Given the description of an element on the screen output the (x, y) to click on. 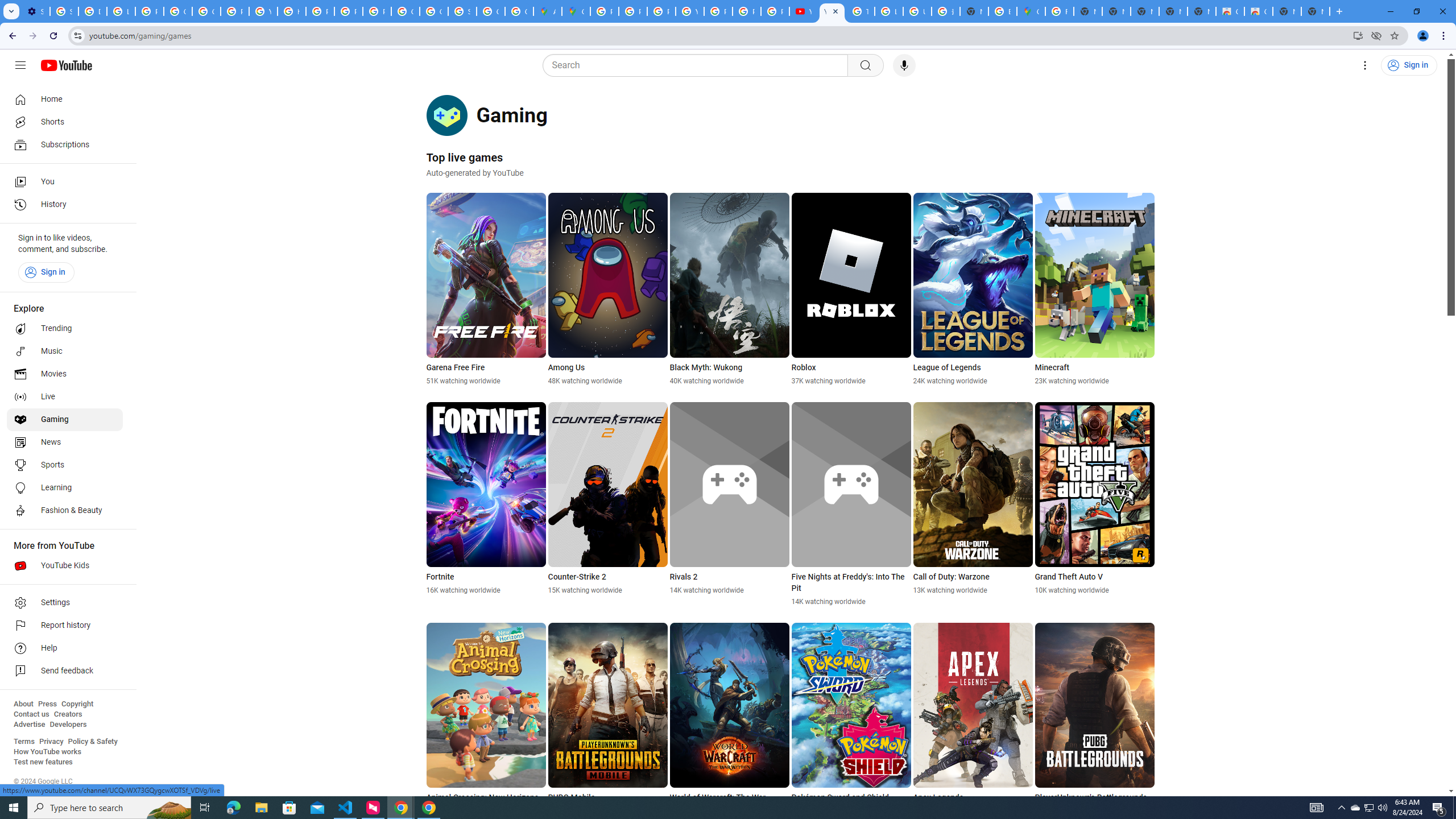
PUBG Mobile 8.2K watching worldwide (607, 719)
Advertise (29, 724)
Create your Google Account (518, 11)
YouTube Home (66, 65)
Counter-Strike 2 15K watching worldwide (607, 498)
Roblox 37K watching worldwide (850, 289)
